Given the description of an element on the screen output the (x, y) to click on. 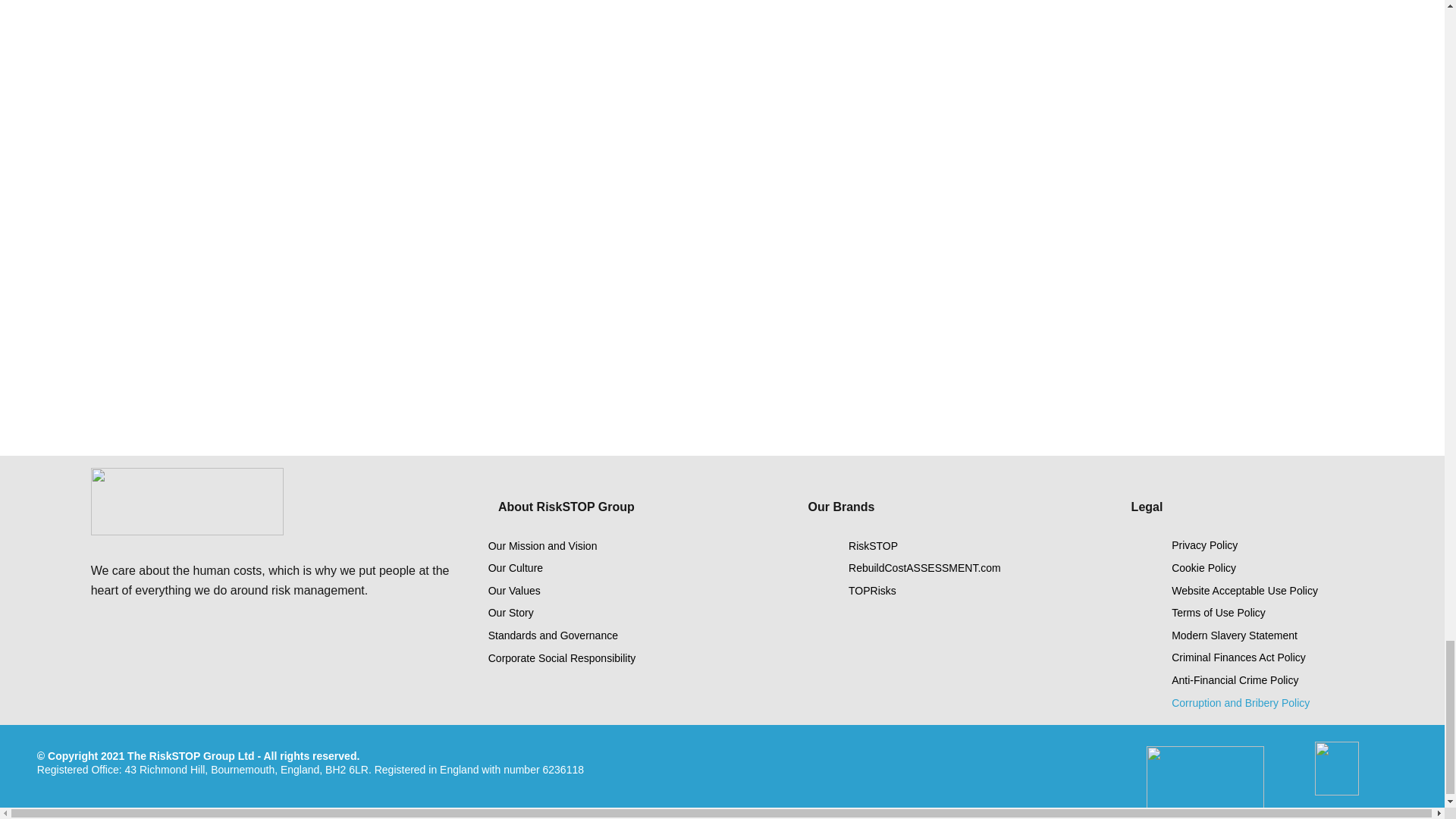
Our Mission and Vision (576, 546)
Modern Slavery Statement (1273, 635)
Website Acceptable Use Policy (1273, 590)
Criminal Finances Act Policy (1273, 658)
RiskSTOP (952, 546)
RebuildCostASSESSMENT.com (952, 568)
Privacy Policy (1273, 545)
Anti-Financial Crime Policy (1273, 680)
Terms of Use Policy (1273, 612)
TOPRisks (952, 590)
